Given the description of an element on the screen output the (x, y) to click on. 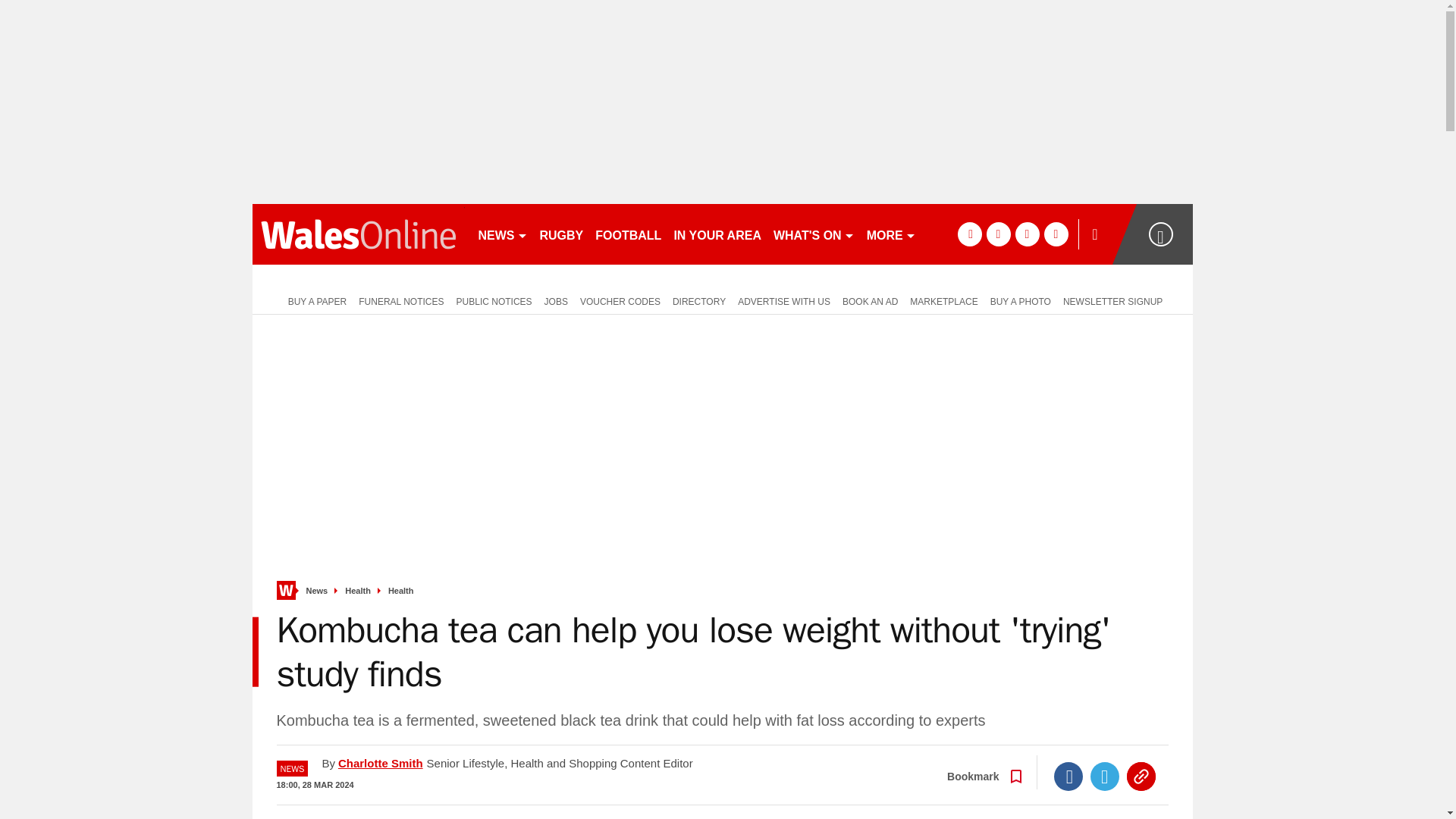
Twitter (1104, 776)
FOOTBALL (627, 233)
twitter (997, 233)
NEWS (501, 233)
Facebook (1068, 776)
WHAT'S ON (813, 233)
walesonline (357, 233)
facebook (968, 233)
instagram (1055, 233)
pinterest (1026, 233)
